Given the description of an element on the screen output the (x, y) to click on. 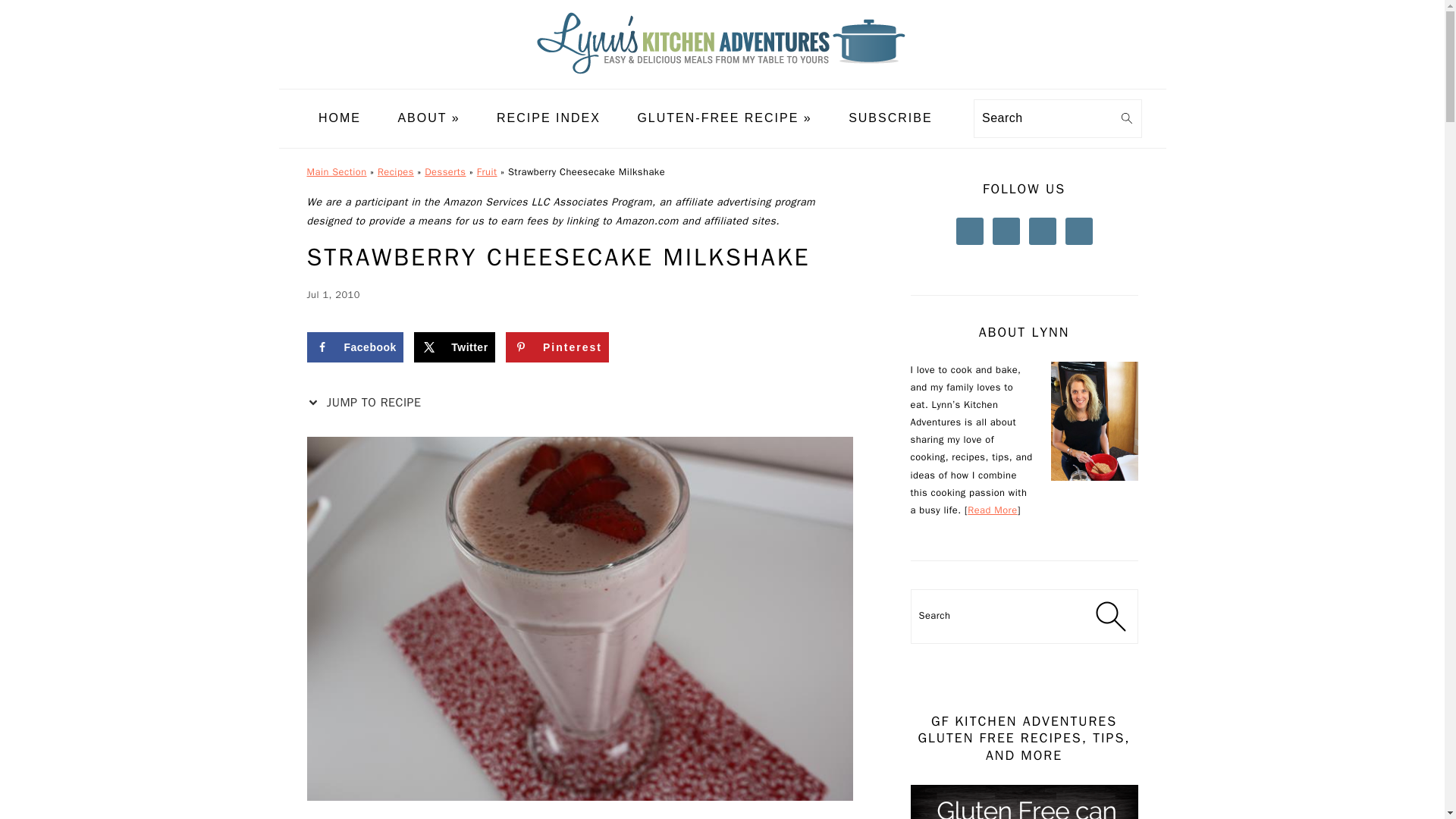
Desserts (445, 172)
Lynn's Kitchen Adventures (722, 77)
JUMP TO RECIPE (366, 402)
Pinterest (556, 347)
Main Section (335, 172)
Fruit (487, 172)
Save to Pinterest (556, 347)
Facebook (354, 347)
Share on X (454, 347)
Share on Facebook (354, 347)
